Given the description of an element on the screen output the (x, y) to click on. 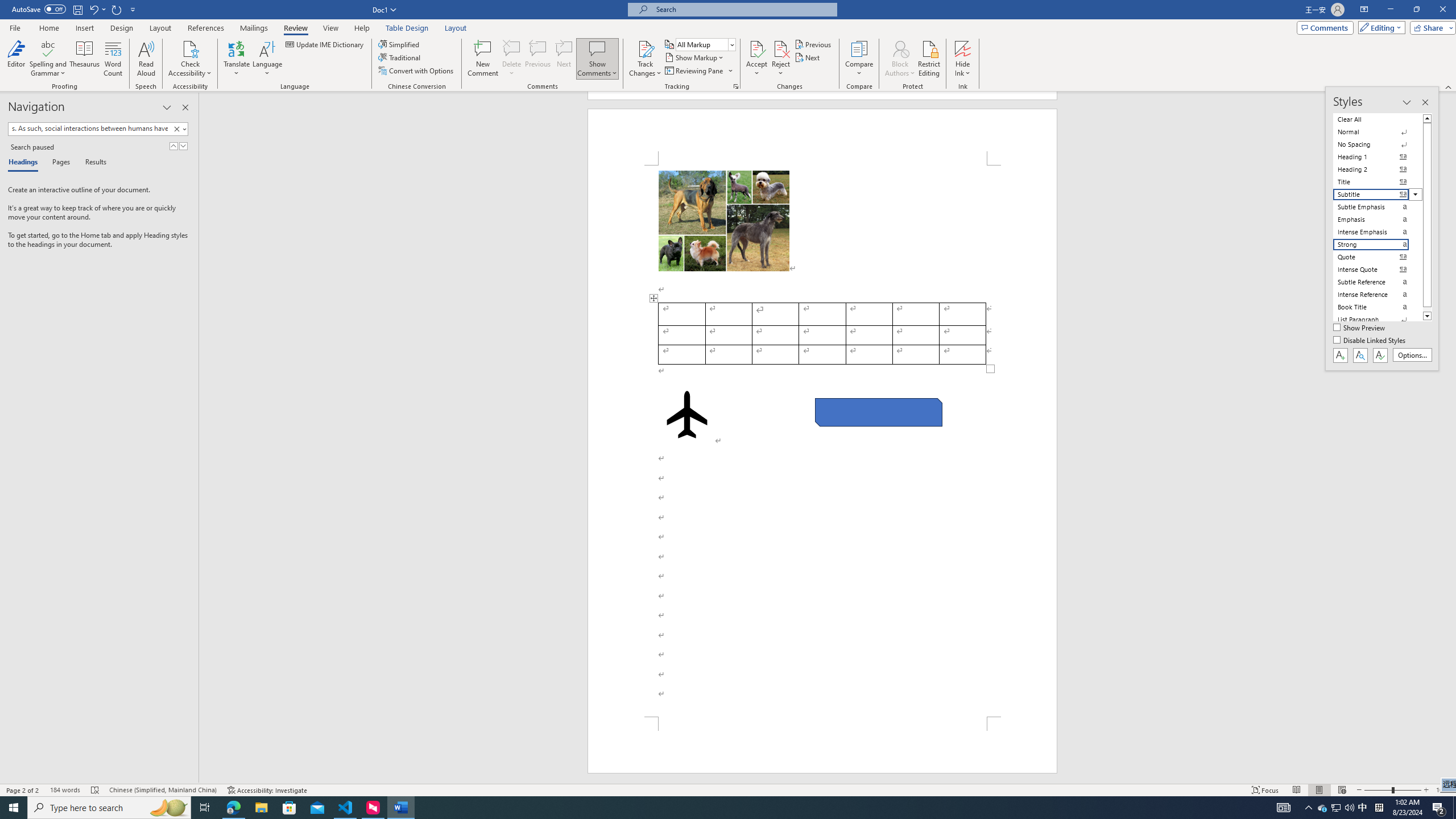
Check Accessibility (189, 48)
Reject (780, 58)
Language (267, 58)
Update IME Dictionary... (324, 44)
Show Markup (695, 56)
Book Title (1377, 306)
Normal (1377, 131)
Restrict Editing (929, 58)
